Given the description of an element on the screen output the (x, y) to click on. 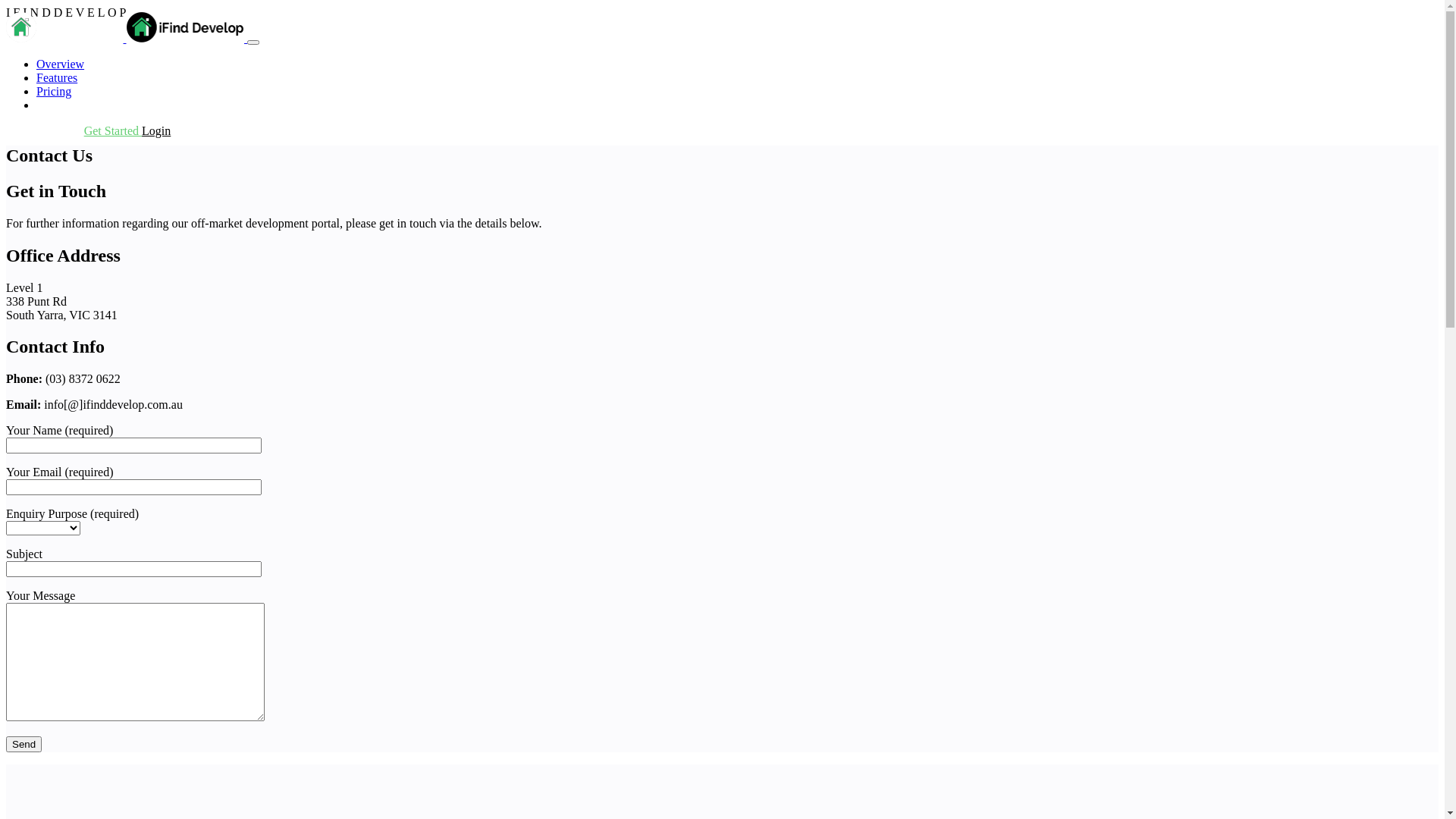
Overview Element type: text (60, 63)
Login Element type: text (155, 130)
Send Element type: text (23, 744)
Contact Element type: text (55, 104)
Pricing Element type: text (53, 90)
(03) 8372 0622 Element type: text (45, 130)
Get Started Element type: text (112, 130)
Features Element type: text (56, 77)
